Given the description of an element on the screen output the (x, y) to click on. 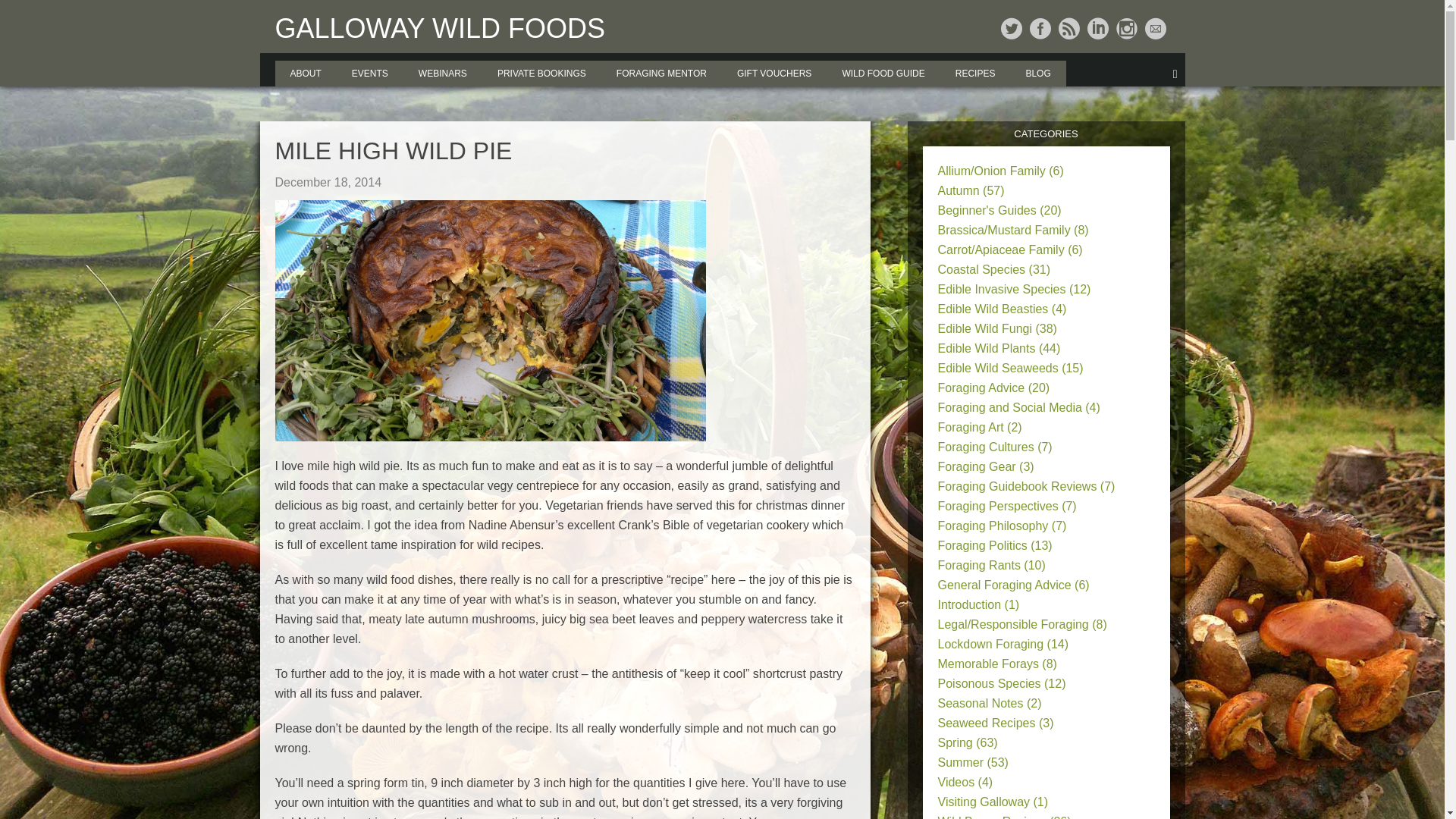
RECIPES (975, 73)
ABOUT (305, 73)
EVENTS (369, 73)
GALLOWAY WILD FOODS (439, 28)
WEBINARS (442, 73)
GIFT VOUCHERS (774, 73)
WILD FOOD GUIDE (883, 73)
Galloway Wild Foods (439, 28)
FORAGING MENTOR (661, 73)
PRIVATE BOOKINGS (541, 73)
Mile High Wild Pie (564, 150)
